Given the description of an element on the screen output the (x, y) to click on. 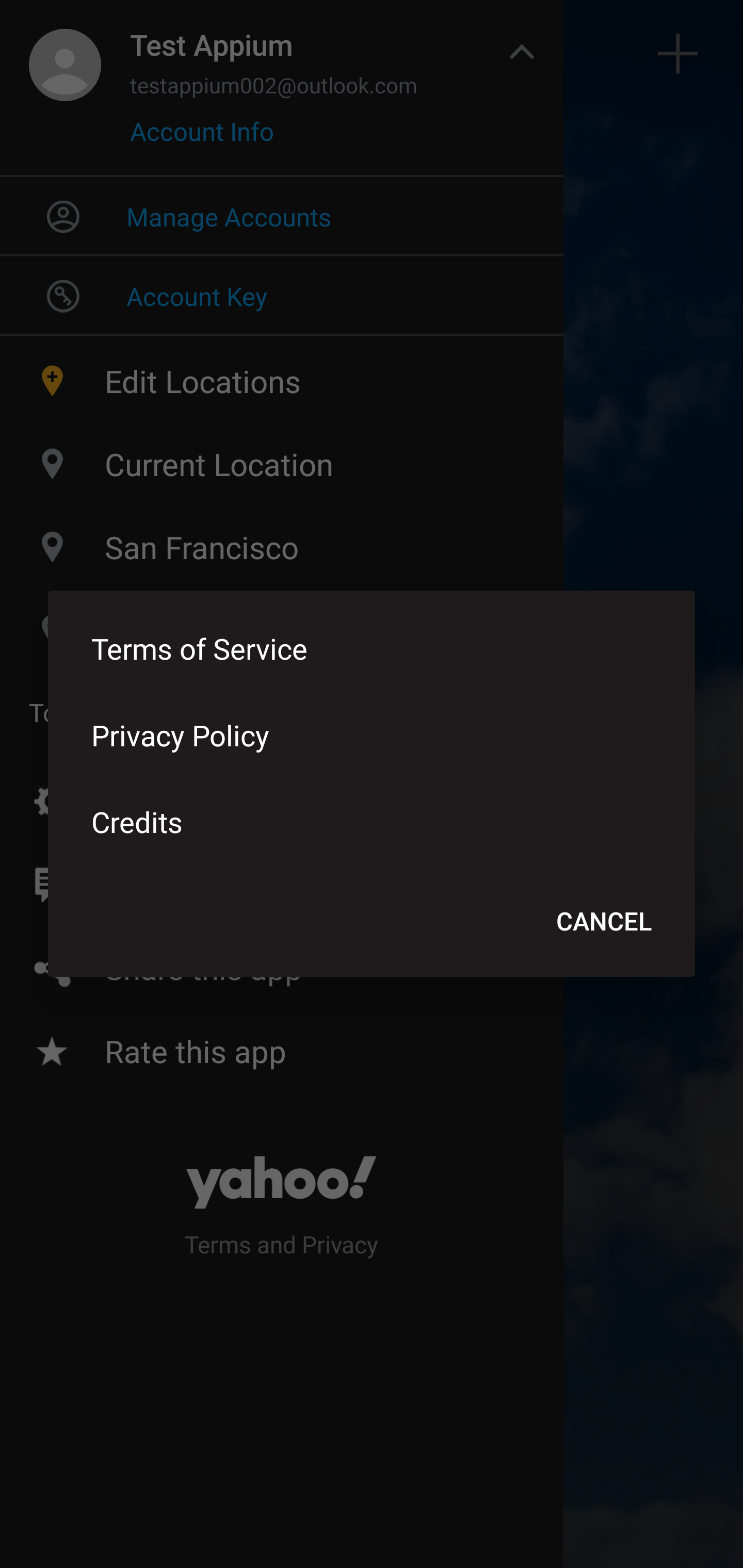
Terms of Service (371, 648)
Privacy Policy (371, 734)
Credits (371, 821)
CANCEL (603, 920)
